Given the description of an element on the screen output the (x, y) to click on. 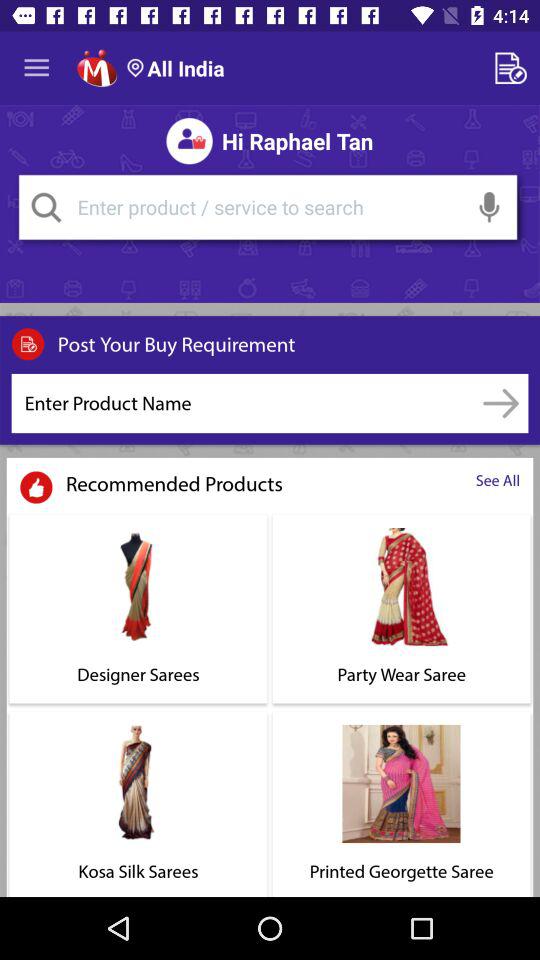
select to enter product/ service to search (267, 207)
